Given the description of an element on the screen output the (x, y) to click on. 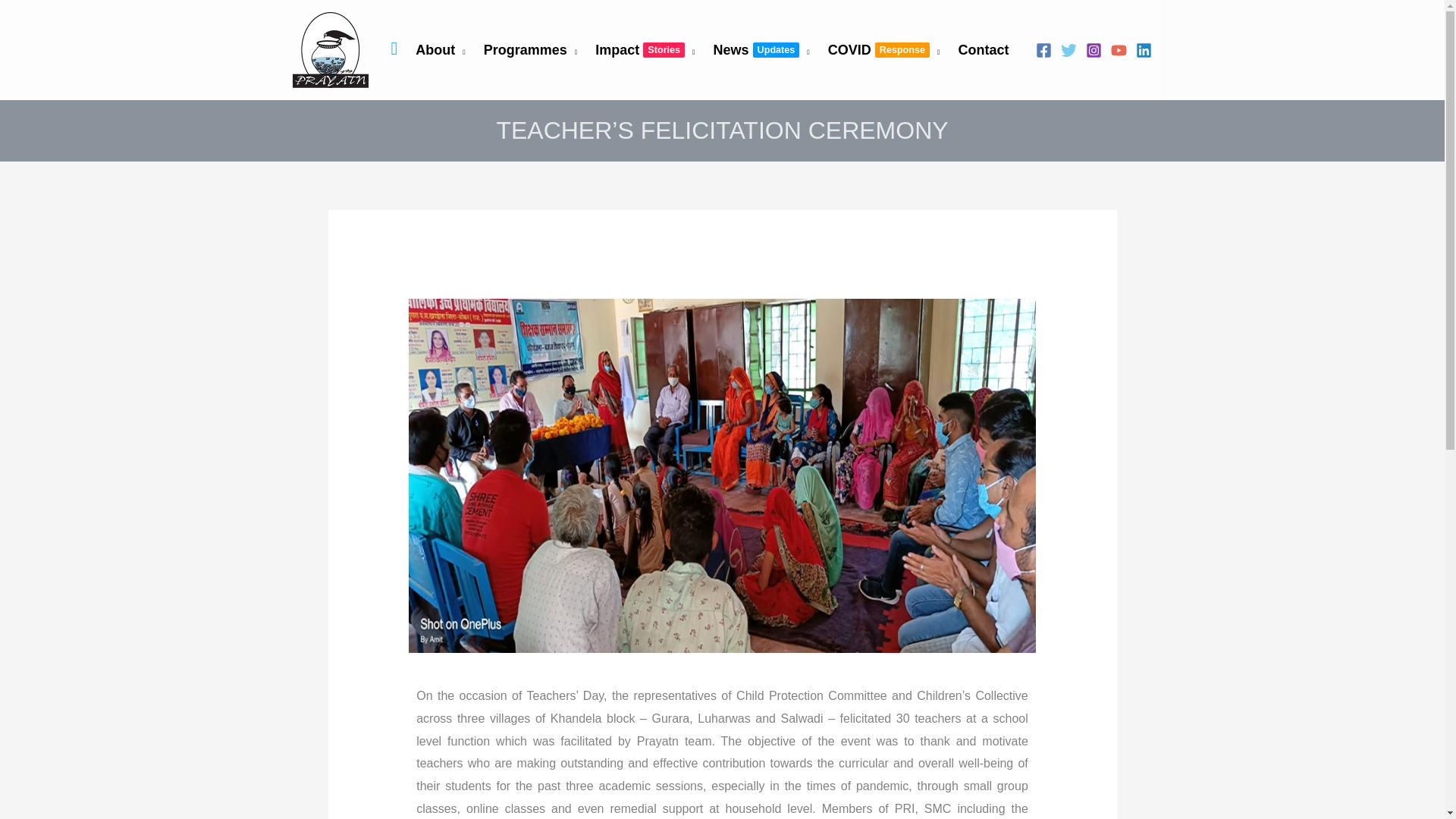
About (443, 49)
Programmes (647, 49)
